Given the description of an element on the screen output the (x, y) to click on. 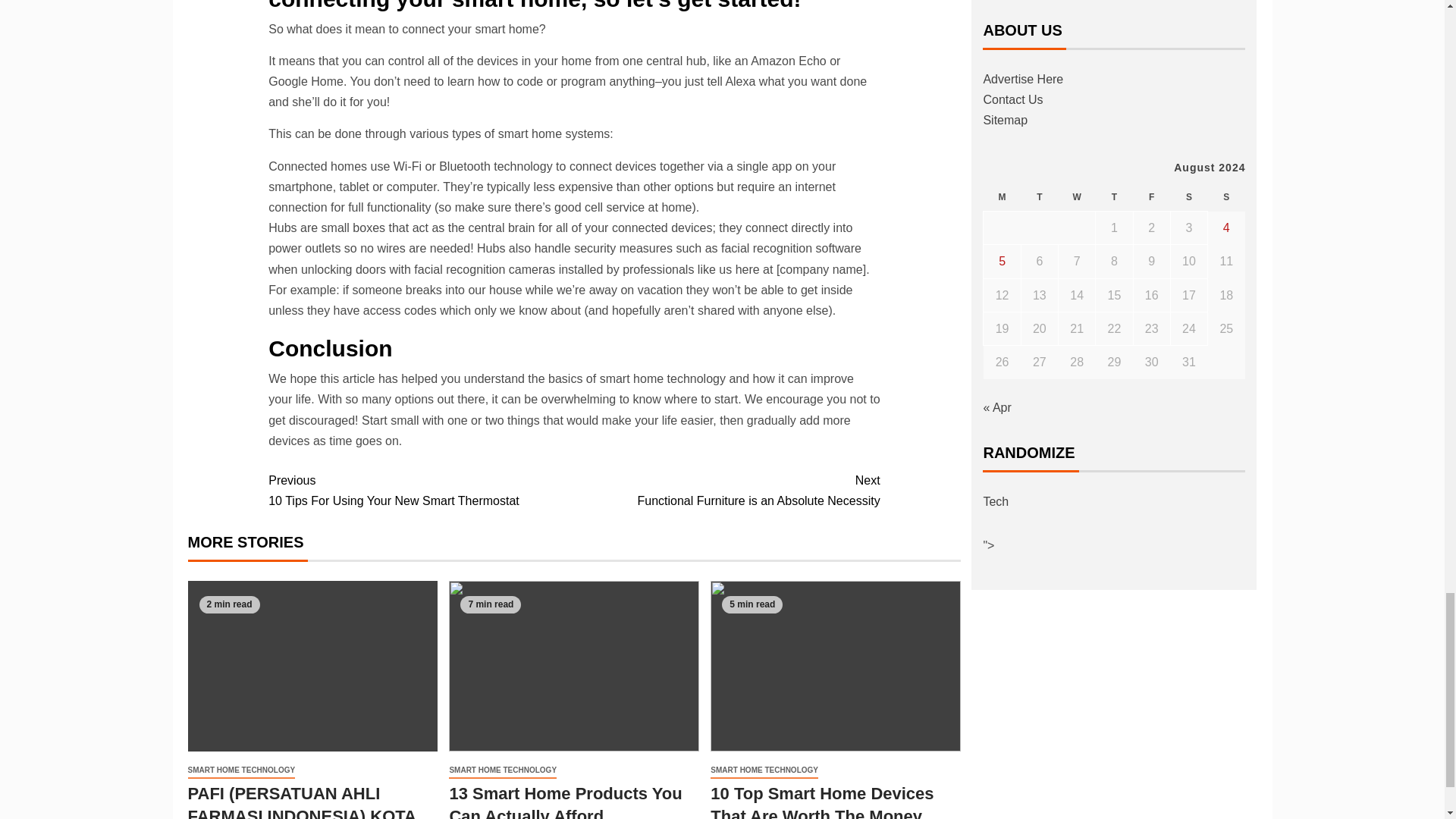
SMART HOME TECHNOLOGY (502, 770)
Monday (1002, 197)
Saturday (1188, 197)
Tuesday (420, 490)
Wednesday (1039, 197)
Sunday (1077, 197)
SMART HOME TECHNOLOGY (1226, 197)
SMART HOME TECHNOLOGY (726, 490)
10 Top Smart Home Devices That Are Worth The Money (241, 770)
Thursday (764, 770)
Friday (821, 801)
13 Smart Home Products You Can Actually Afford (1114, 197)
